Given the description of an element on the screen output the (x, y) to click on. 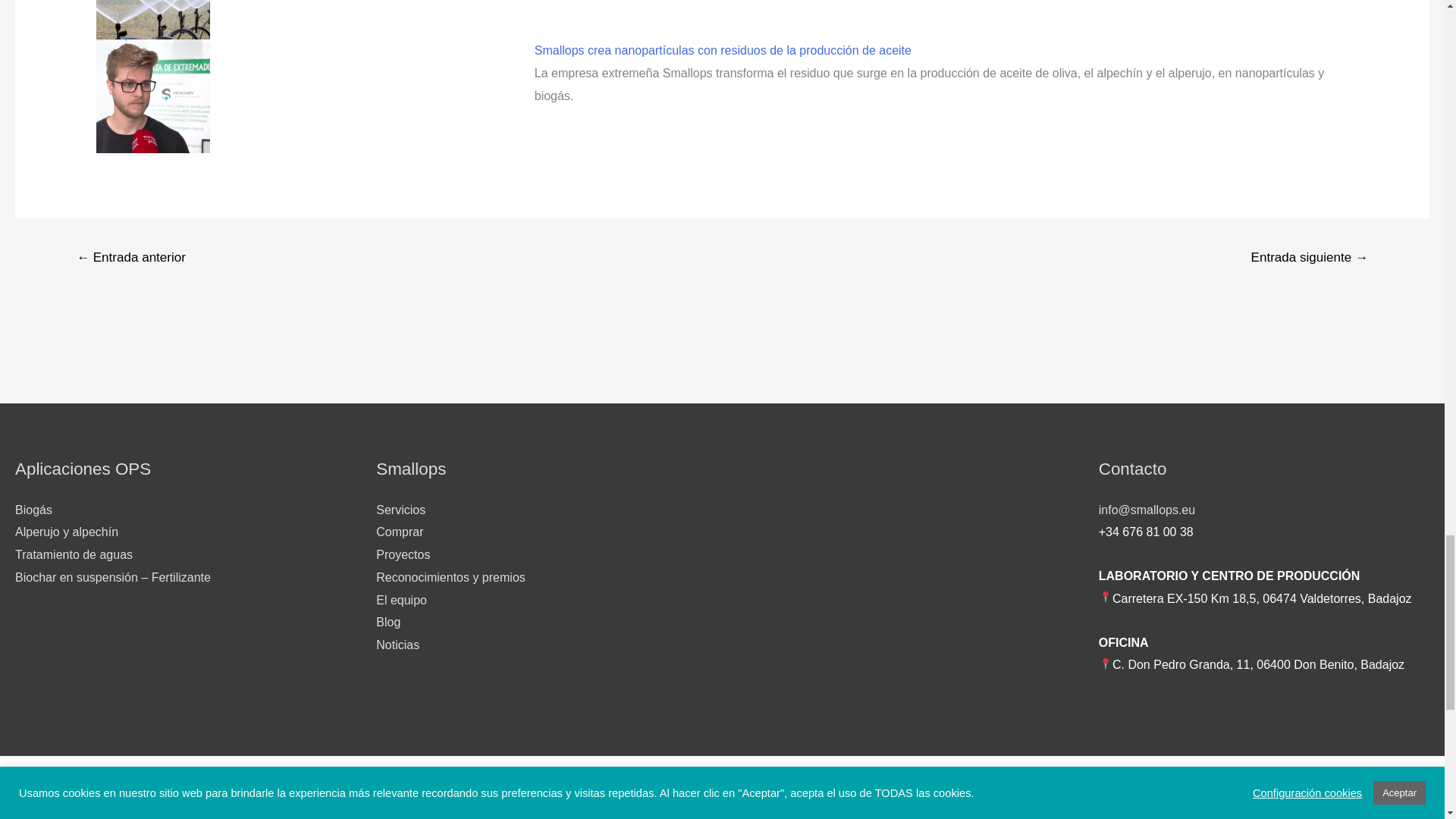
Tratamiento de aguas (73, 554)
